Given the description of an element on the screen output the (x, y) to click on. 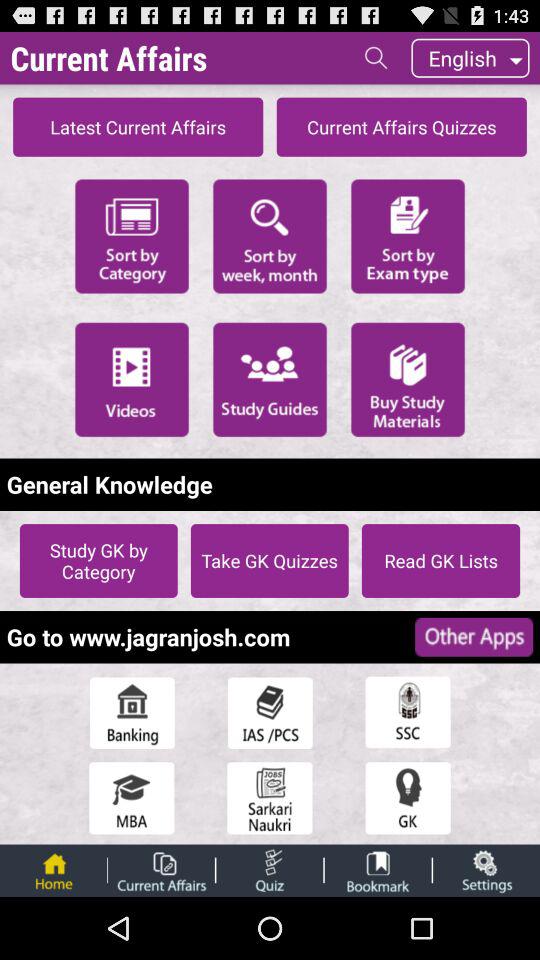
go home (53, 870)
